Given the description of an element on the screen output the (x, y) to click on. 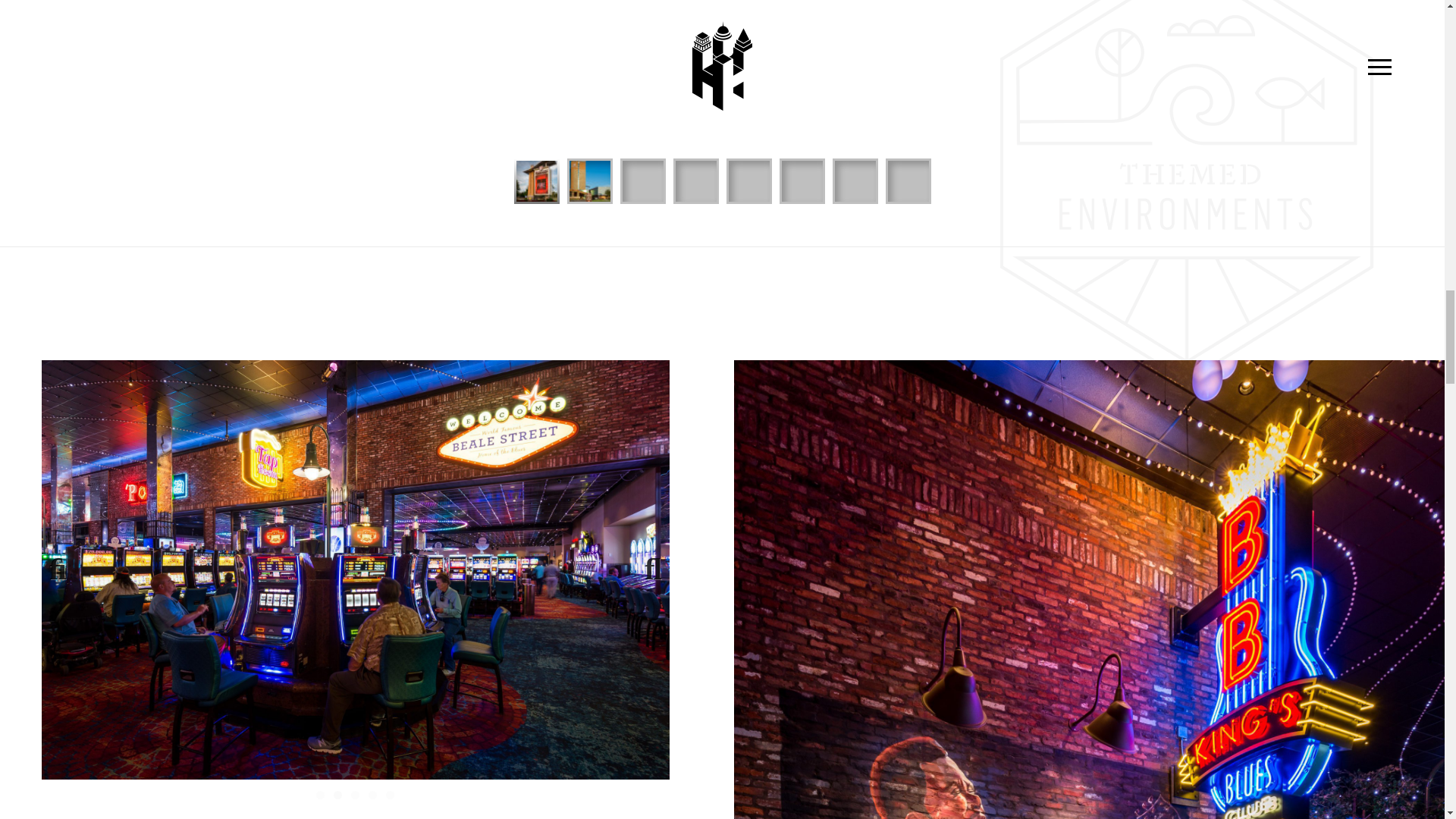
Next (645, 569)
1 (319, 795)
3 (354, 795)
5 (389, 795)
4 (372, 795)
2 (337, 795)
Previous (64, 569)
